Given the description of an element on the screen output the (x, y) to click on. 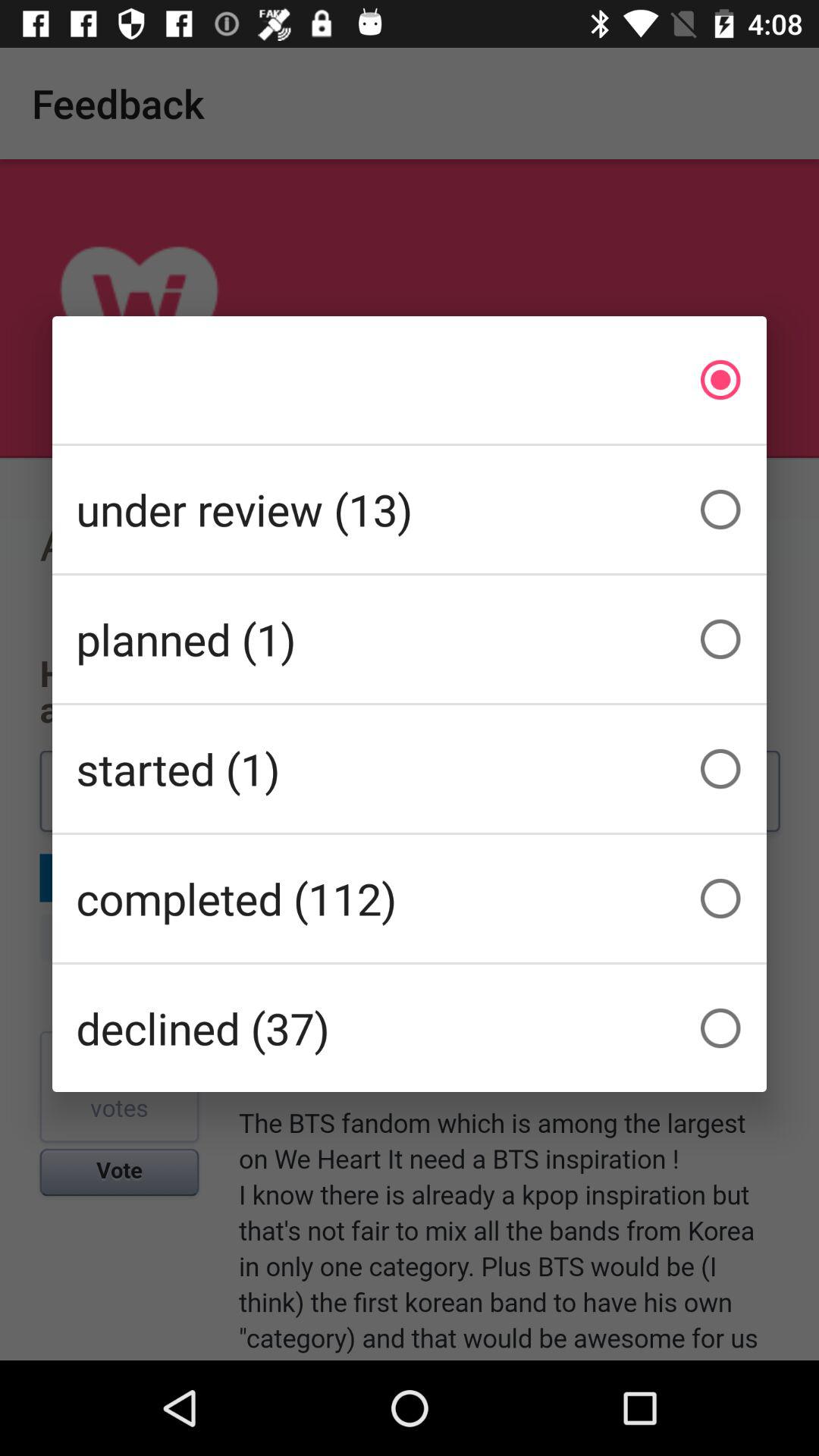
choose the icon below started (1) icon (409, 898)
